Given the description of an element on the screen output the (x, y) to click on. 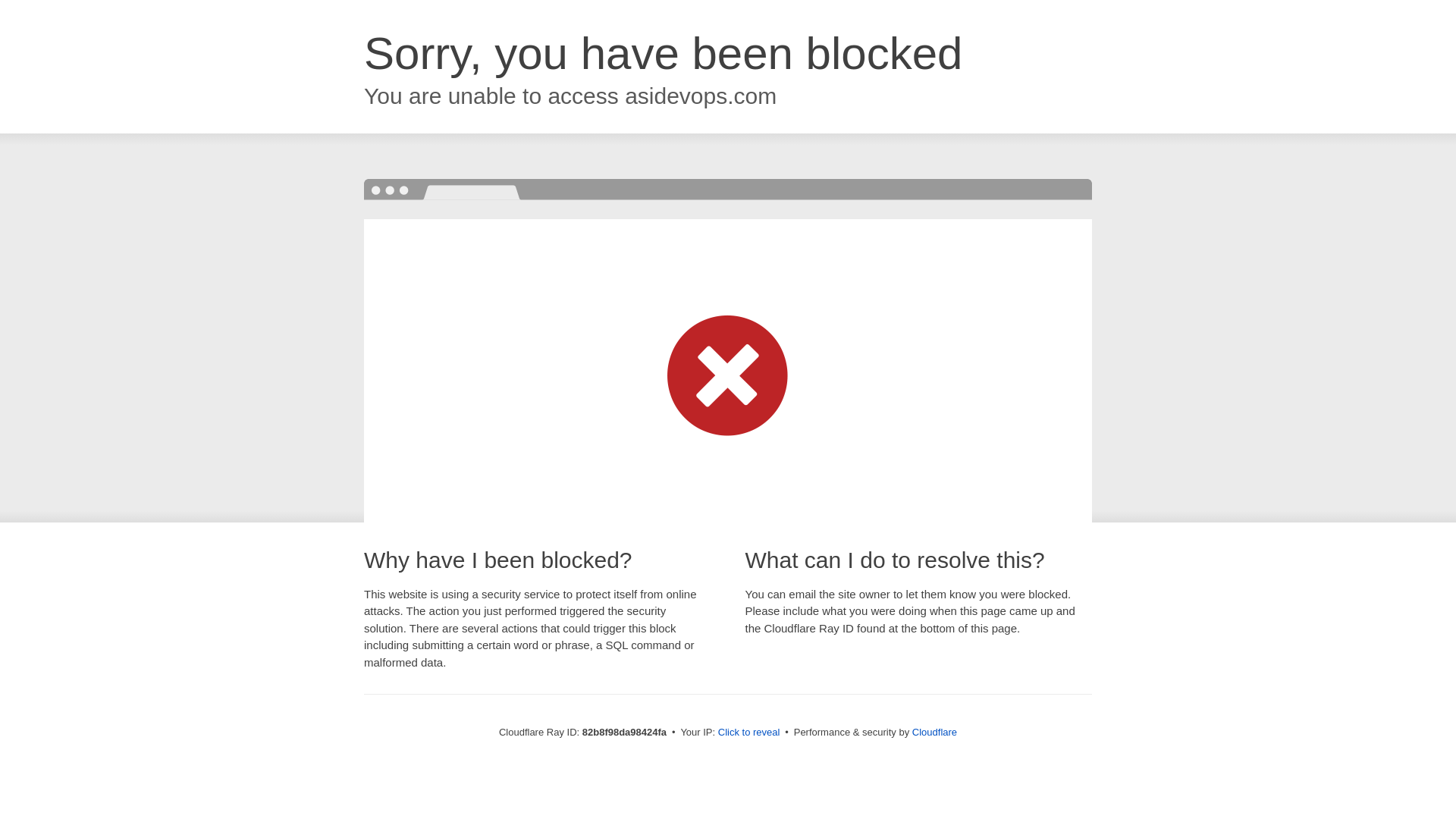
Cloudflare Element type: text (934, 731)
Click to reveal Element type: text (749, 732)
